Given the description of an element on the screen output the (x, y) to click on. 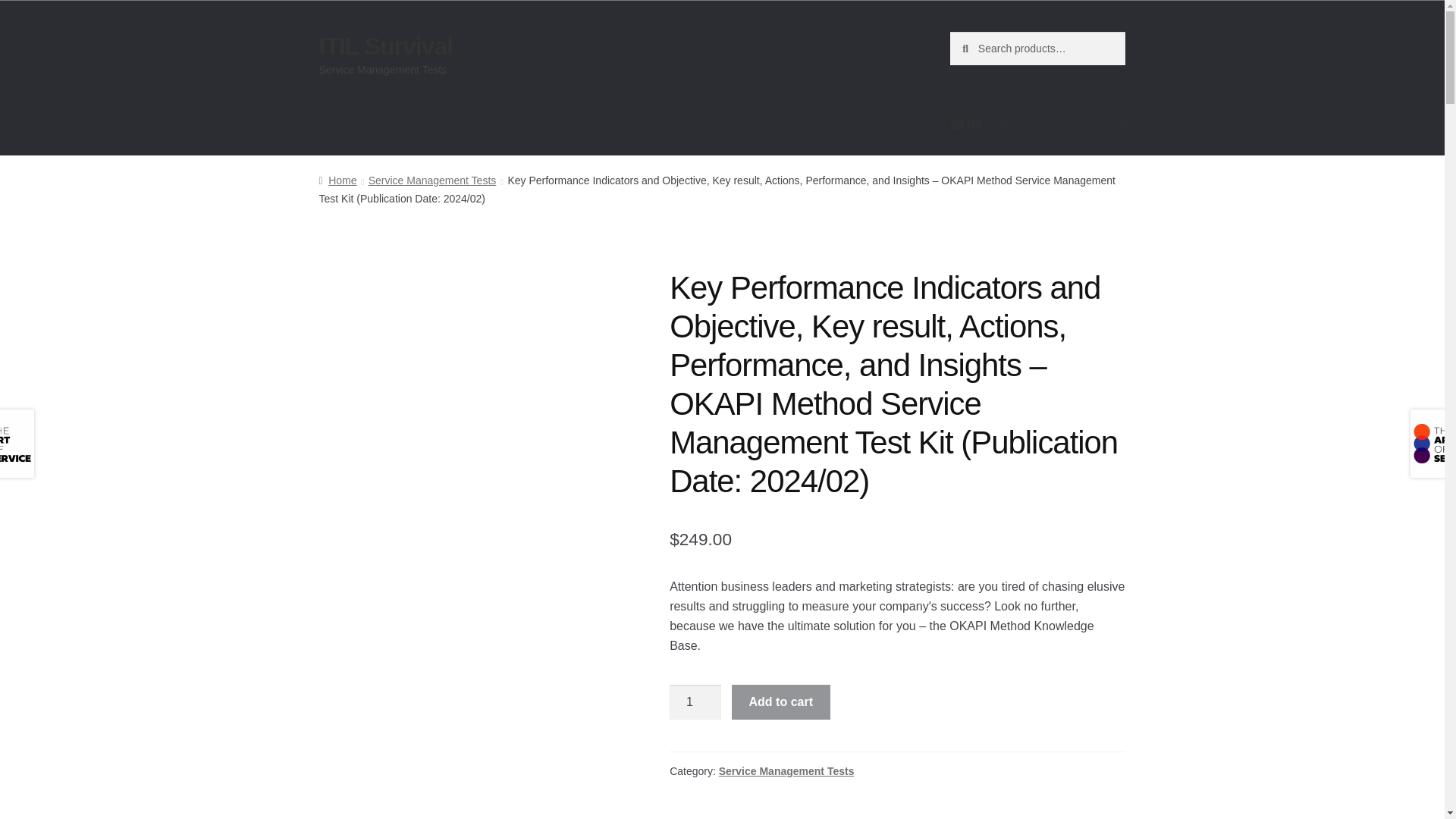
Add to cart (780, 701)
ITIL Survival (385, 45)
1 (694, 701)
Home (337, 180)
Service Management Tests (432, 180)
View your shopping cart (1037, 124)
Service Management Tests (786, 770)
